Given the description of an element on the screen output the (x, y) to click on. 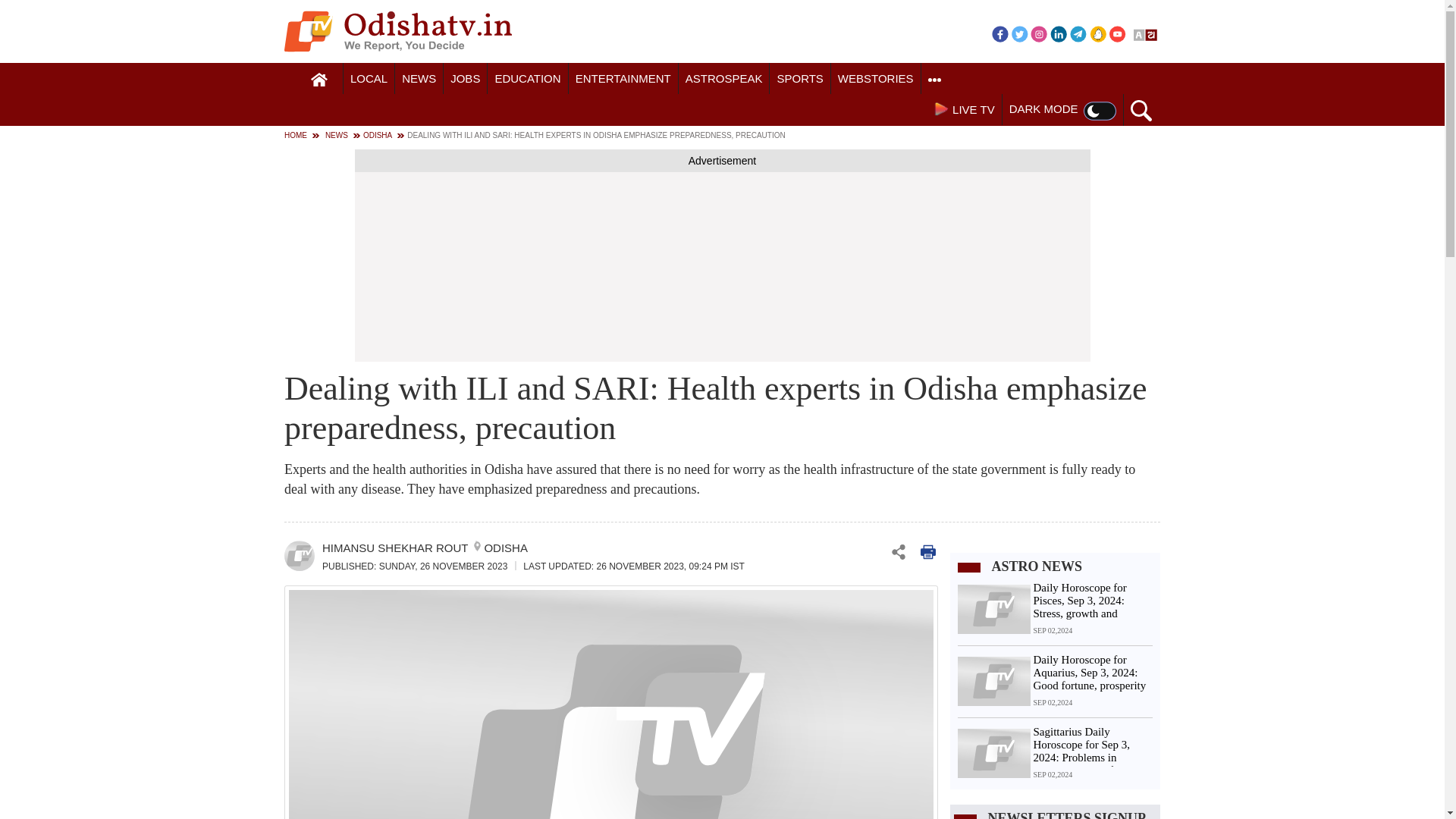
Instagram (1038, 33)
NEWS (418, 78)
Koo (1097, 33)
LinkedIn (1058, 33)
LOCAL (368, 78)
Telegram (1078, 33)
News (418, 78)
JOBS (465, 78)
EDUCATION (527, 78)
Odisha (368, 78)
